Given the description of an element on the screen output the (x, y) to click on. 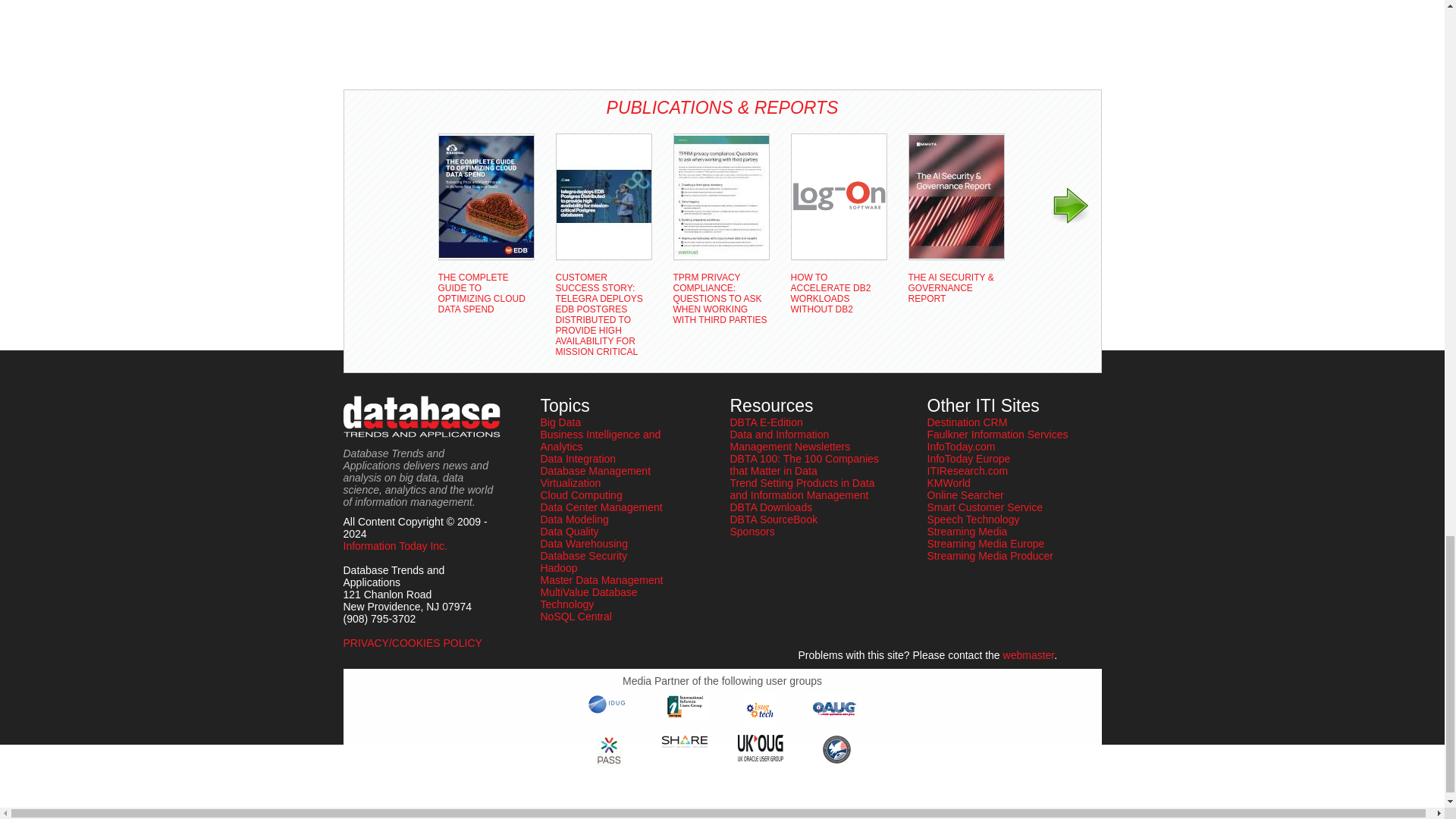
3rd party ad content (403, 39)
